Given the description of an element on the screen output the (x, y) to click on. 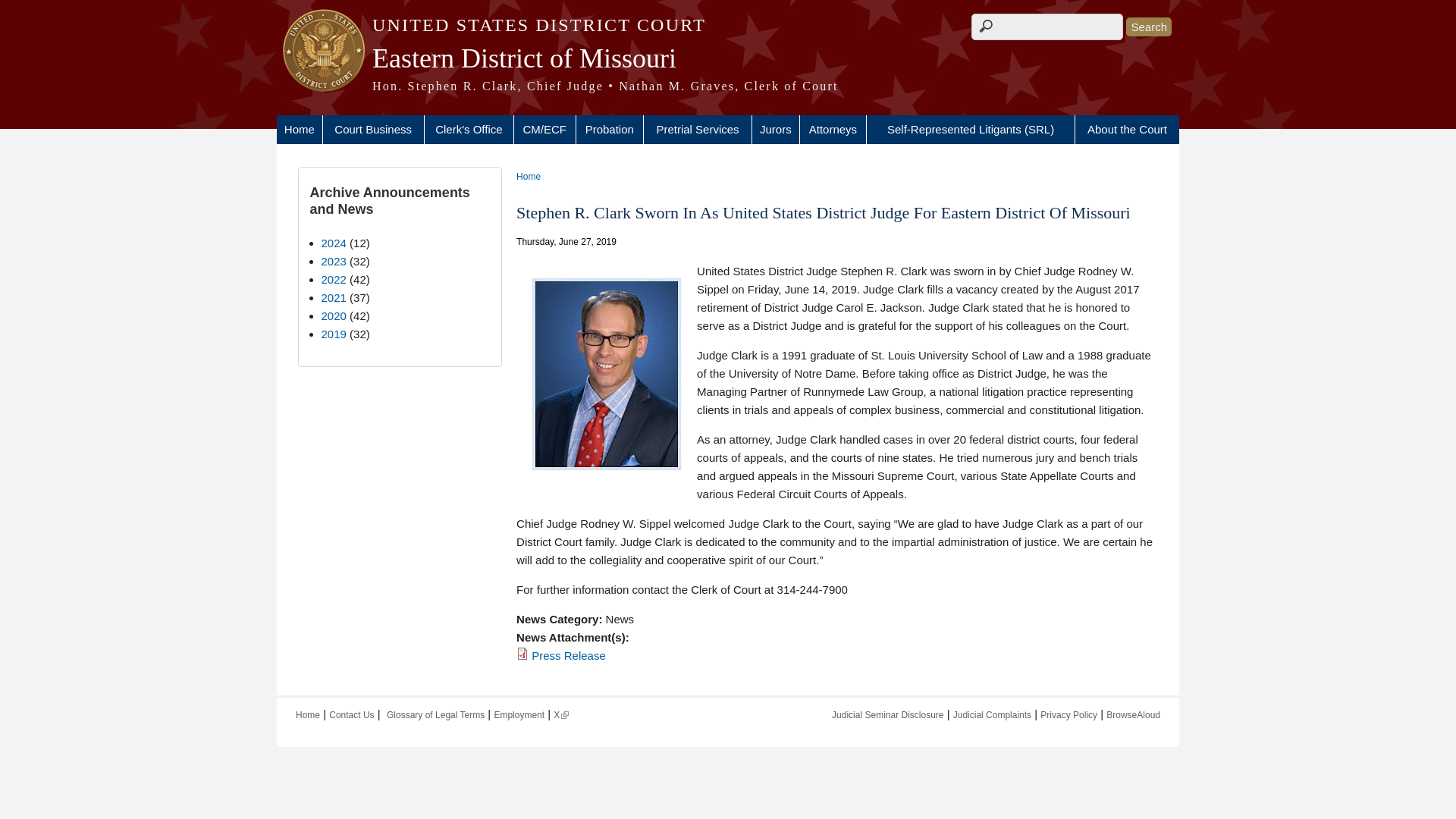
Home (727, 25)
Search (1148, 26)
Home (727, 86)
Probation (609, 129)
Clerk's Office (469, 129)
Search (1148, 26)
UNITED STATES DISTRICT COURT (727, 25)
Court Business (373, 129)
Home (727, 57)
Home (298, 129)
Judge-Clark-Press-Release-06-27-19.pdf (568, 655)
Eastern District of Missouri (727, 57)
Enter the terms you wish to search for. (1046, 26)
